Given the description of an element on the screen output the (x, y) to click on. 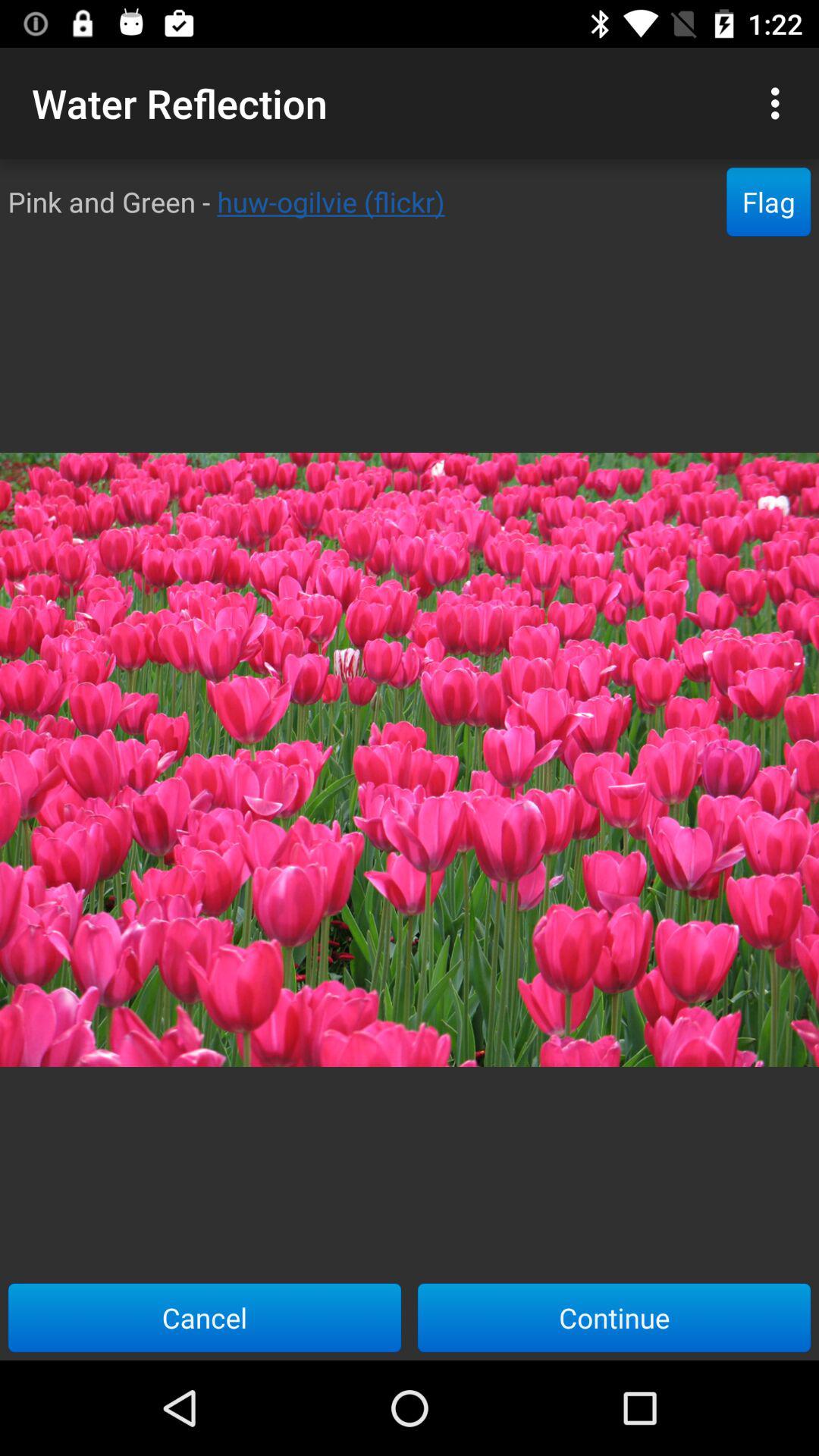
click continue at the bottom right corner (614, 1317)
